Given the description of an element on the screen output the (x, y) to click on. 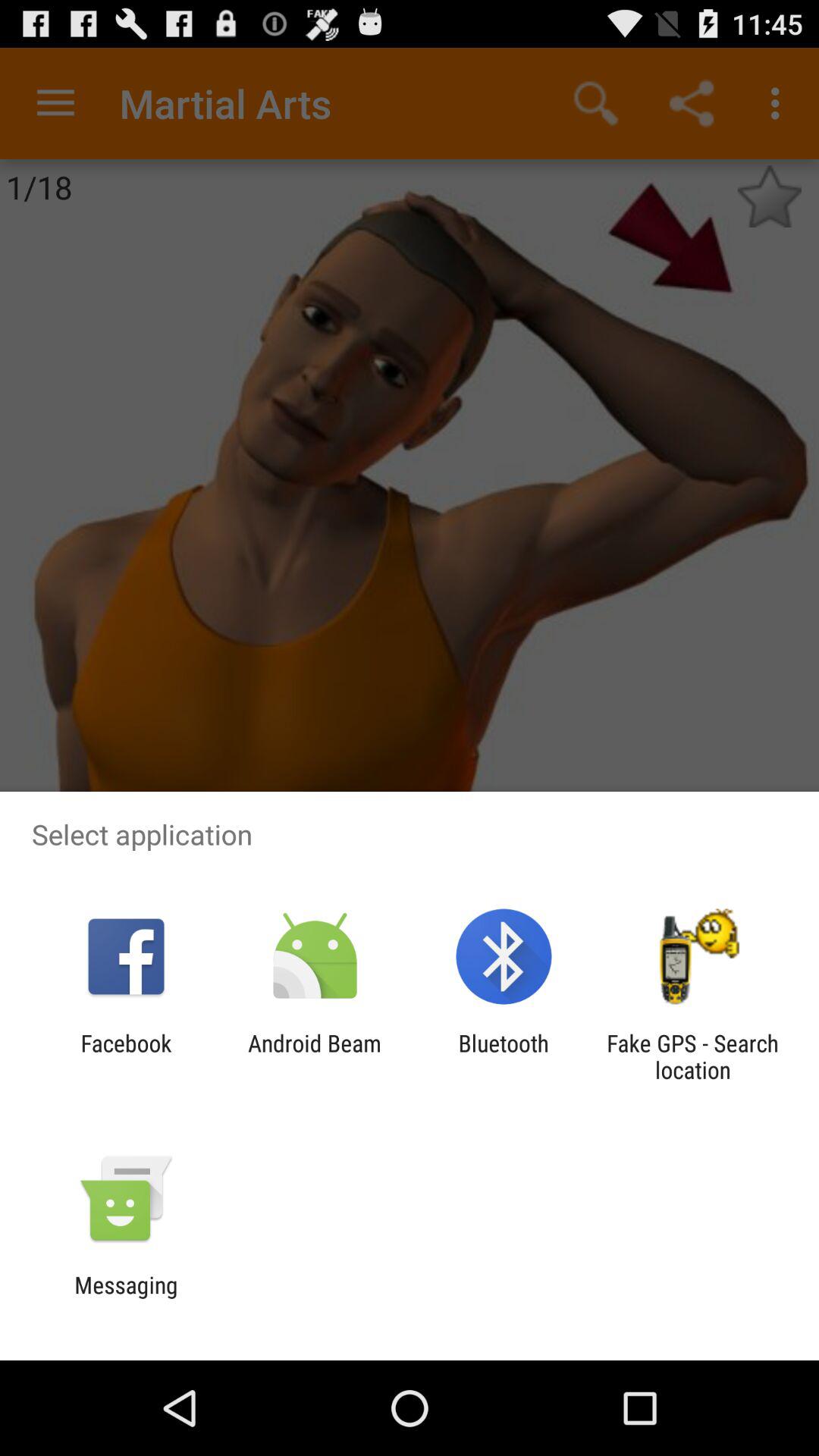
tap app next to the bluetooth app (314, 1056)
